Given the description of an element on the screen output the (x, y) to click on. 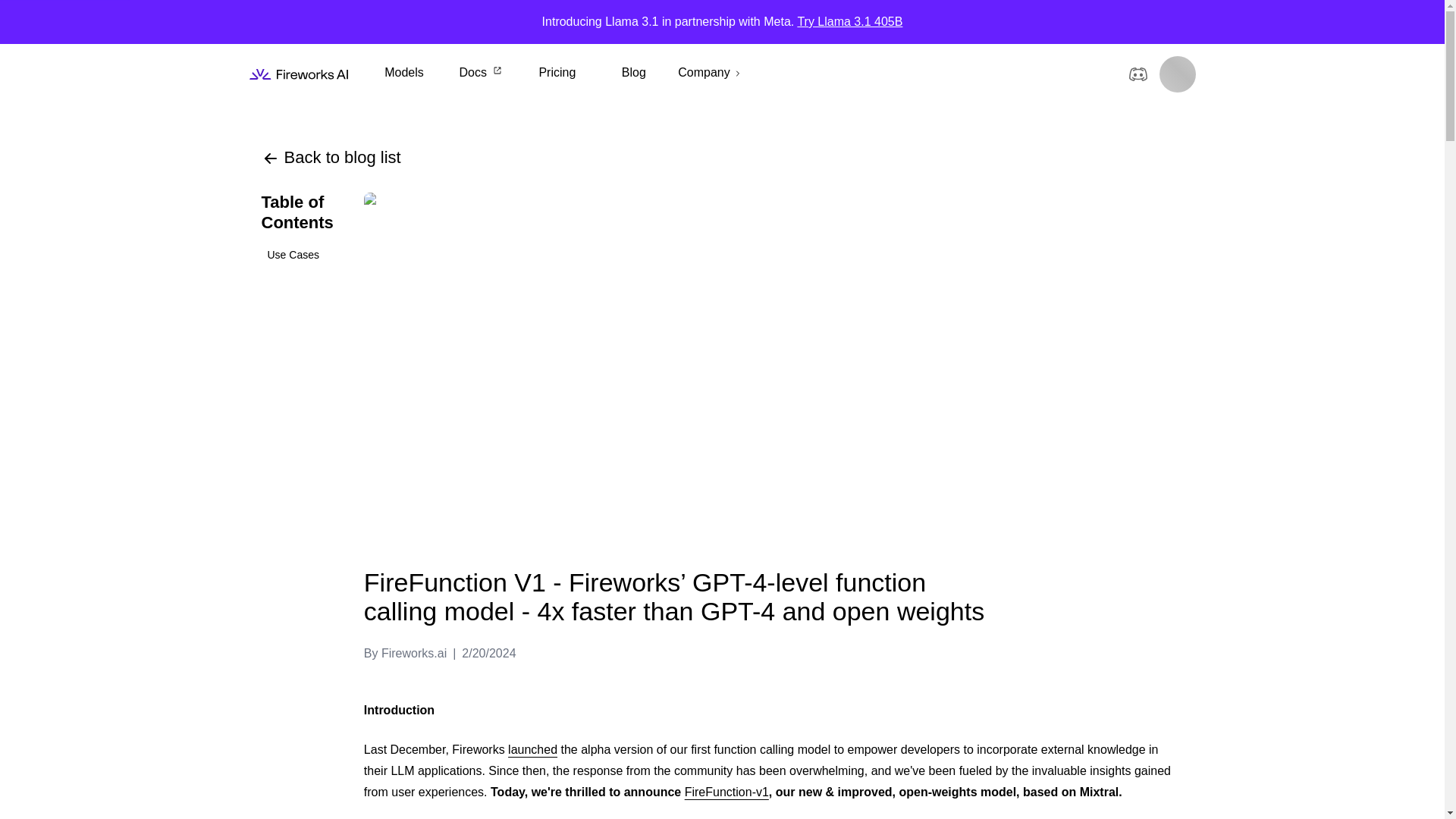
Models (403, 72)
Blog (633, 72)
Join our Discord for questions and support (1137, 74)
Docs (480, 72)
Try Llama 3.1 405B (849, 21)
Back to blog list (330, 157)
Use Cases (296, 255)
Pricing (556, 72)
FireFunction-v1 (726, 791)
launched (532, 748)
